Given the description of an element on the screen output the (x, y) to click on. 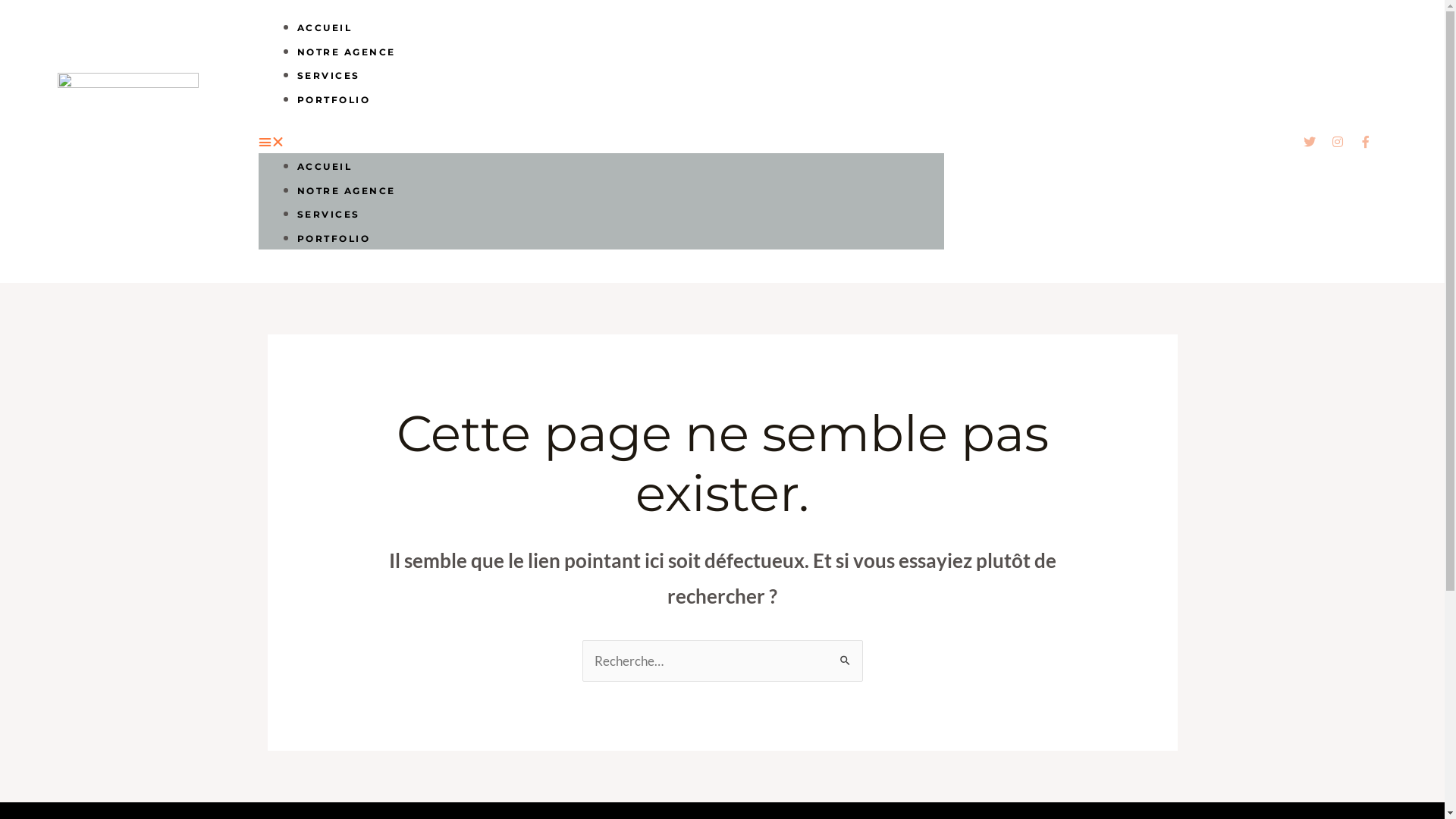
PORTFOLIO Element type: text (333, 238)
Instagram Element type: text (1337, 141)
Twitter Element type: text (1309, 141)
Facebook-f Element type: text (1365, 141)
SERVICES Element type: text (328, 75)
ACCUEIL Element type: text (324, 166)
ACCUEIL Element type: text (324, 27)
SERVICES Element type: text (328, 213)
Rechercher Element type: text (845, 655)
NOTRE AGENCE Element type: text (346, 51)
NOTRE AGENCE Element type: text (346, 190)
PORTFOLIO Element type: text (333, 99)
